Given the description of an element on the screen output the (x, y) to click on. 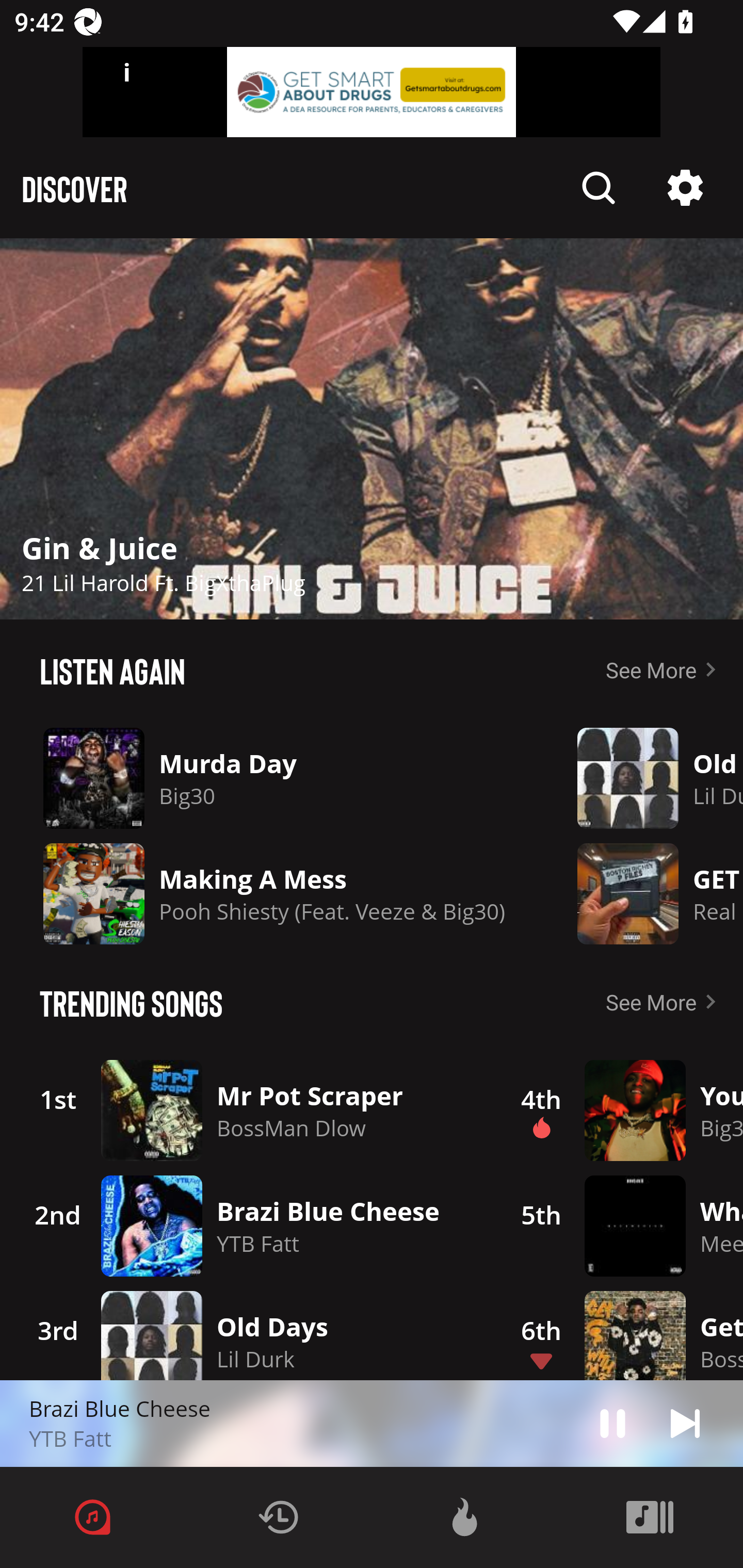
Description (598, 188)
Description (684, 188)
Description (371, 428)
See More (664, 669)
Description Murda Day Big30 (274, 778)
Description Old Days Lil Durk (645, 778)
See More (664, 1001)
1st Description Mr Pot Scraper BossMan Dlow (248, 1110)
4th Description Description You Thought Big30 (620, 1110)
2nd Description Brazi Blue Cheese YTB Fatt (248, 1226)
3rd Description Old Days Lil Durk (248, 1331)
Brazi Blue Cheese YTB Fatt Description Description (371, 1423)
Description (612, 1422)
Description (685, 1422)
